Given the description of an element on the screen output the (x, y) to click on. 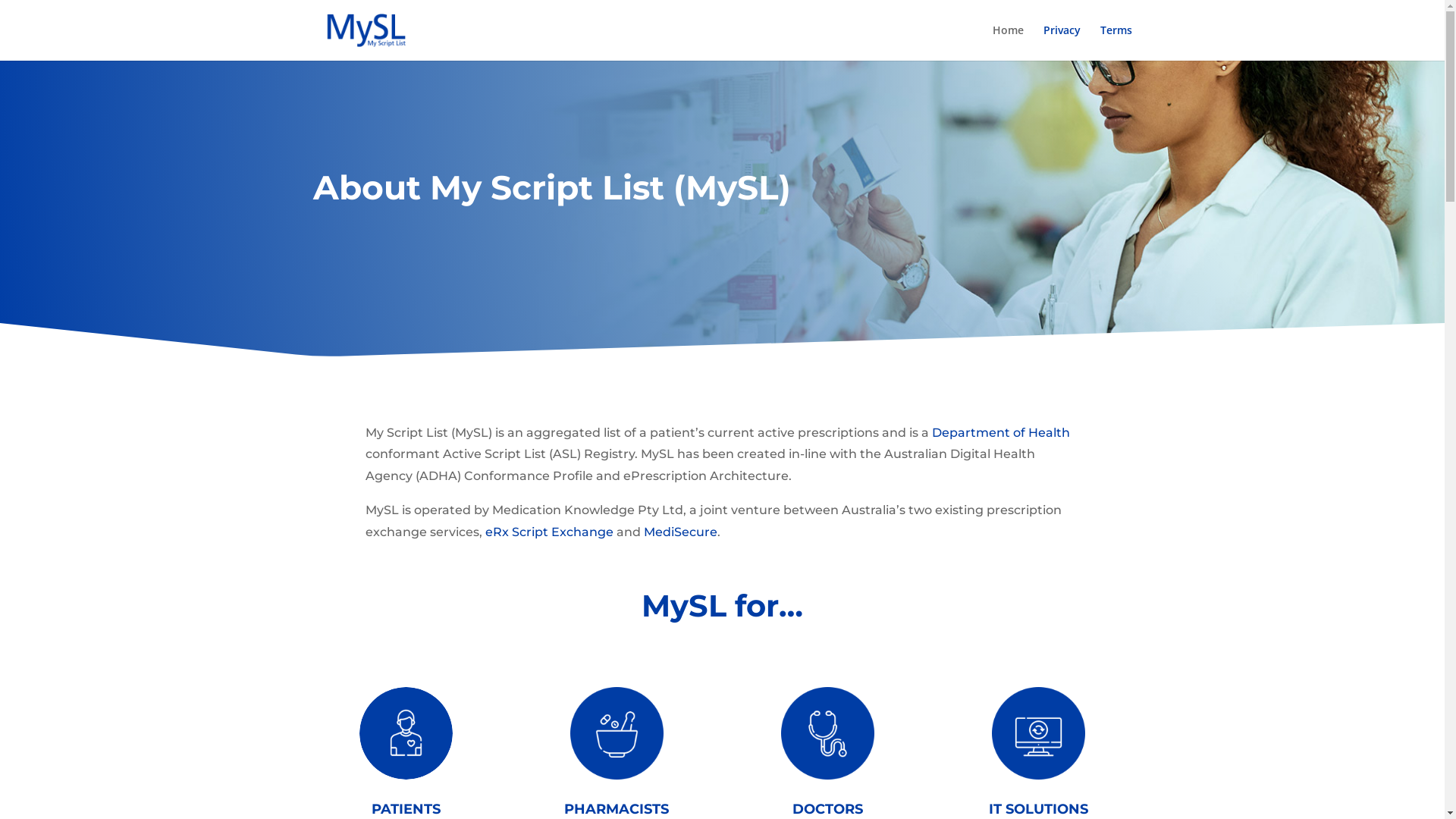
Terms Element type: text (1115, 42)
Department of Health Element type: text (1000, 432)
MediSecure Element type: text (679, 531)
eRx Script Exchange Element type: text (549, 531)
Home Element type: text (1006, 42)
Privacy Element type: text (1061, 42)
